Given the description of an element on the screen output the (x, y) to click on. 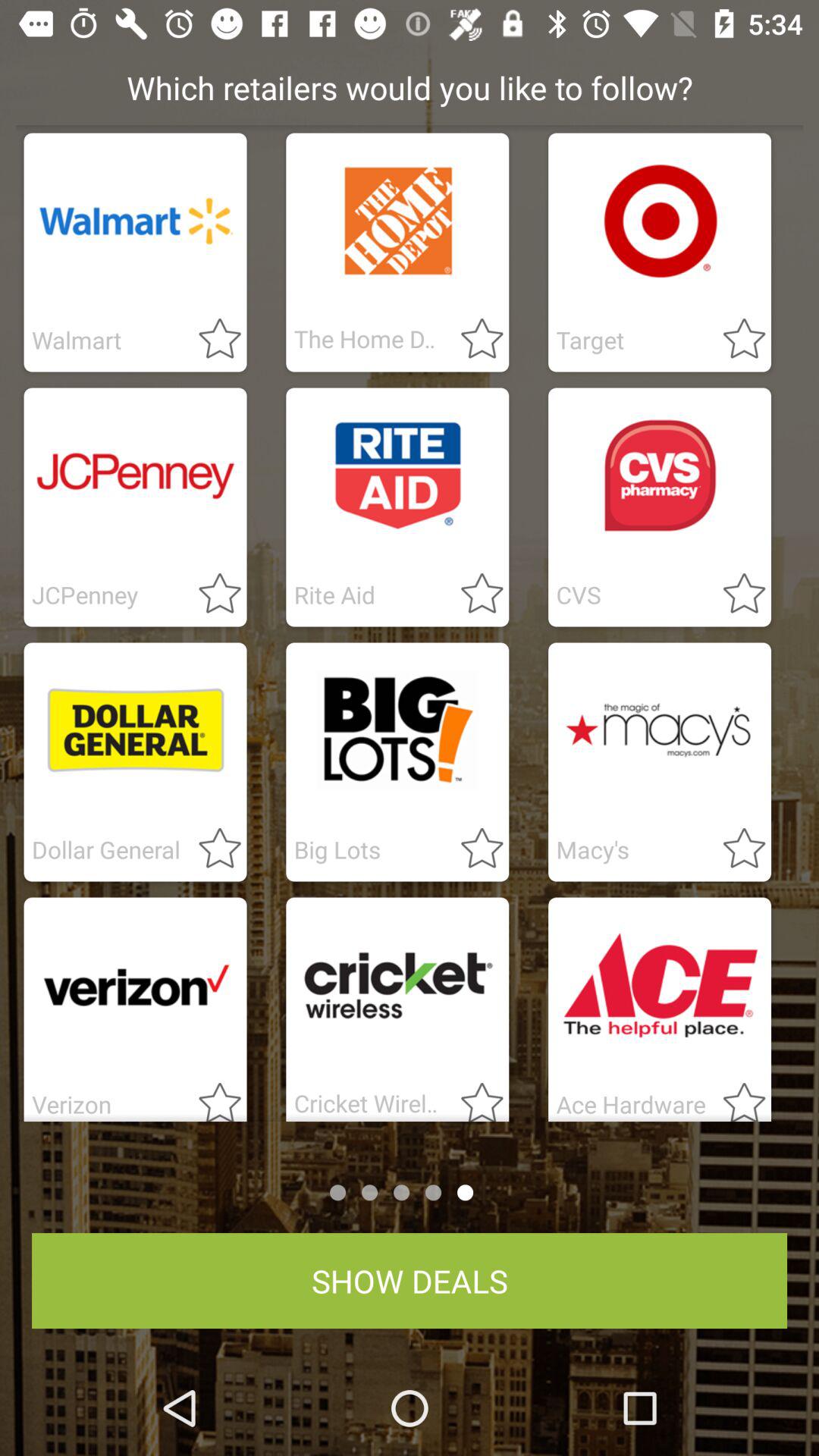
save as favourite (473, 339)
